Given the description of an element on the screen output the (x, y) to click on. 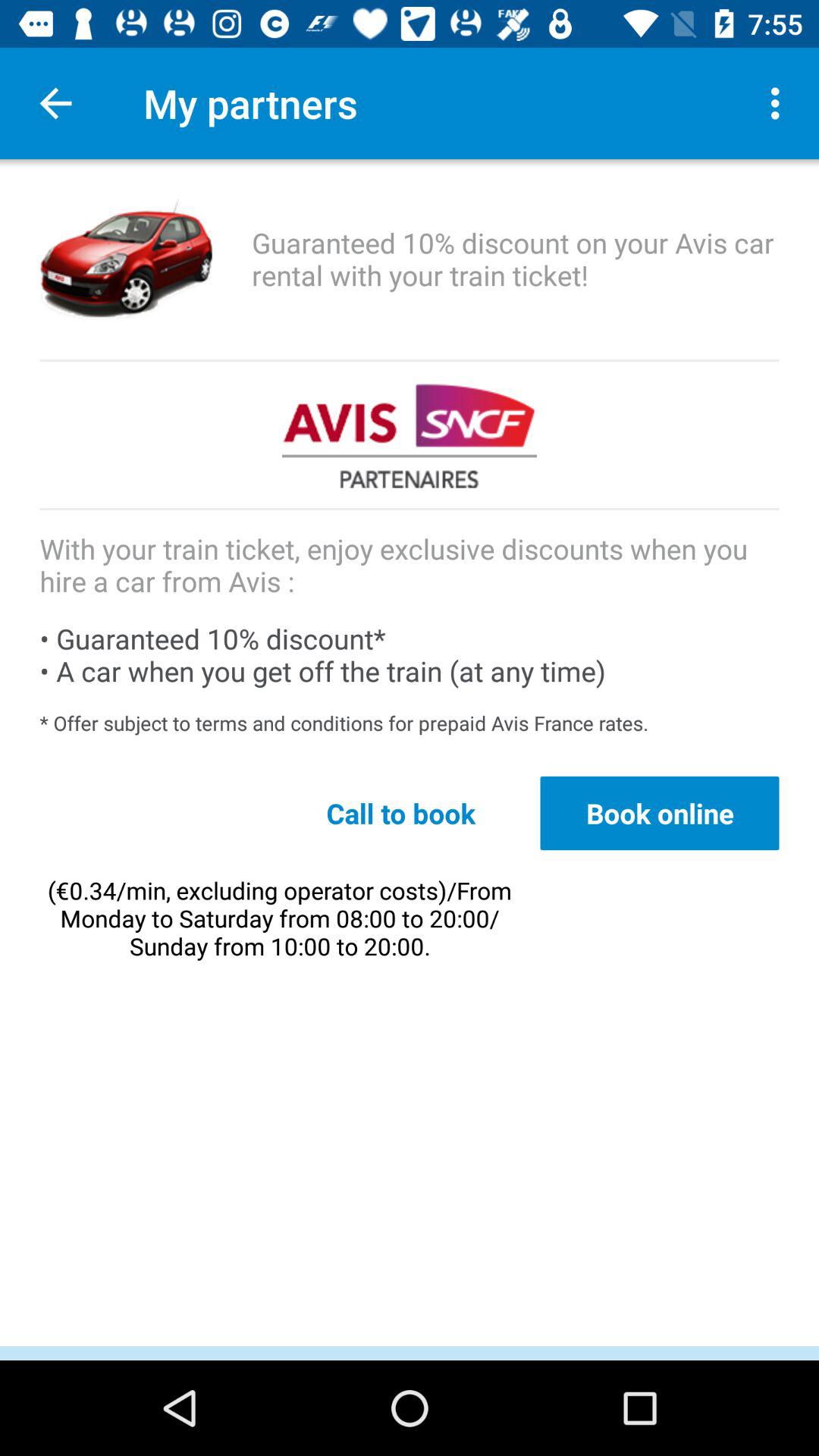
jump until book online icon (659, 813)
